Given the description of an element on the screen output the (x, y) to click on. 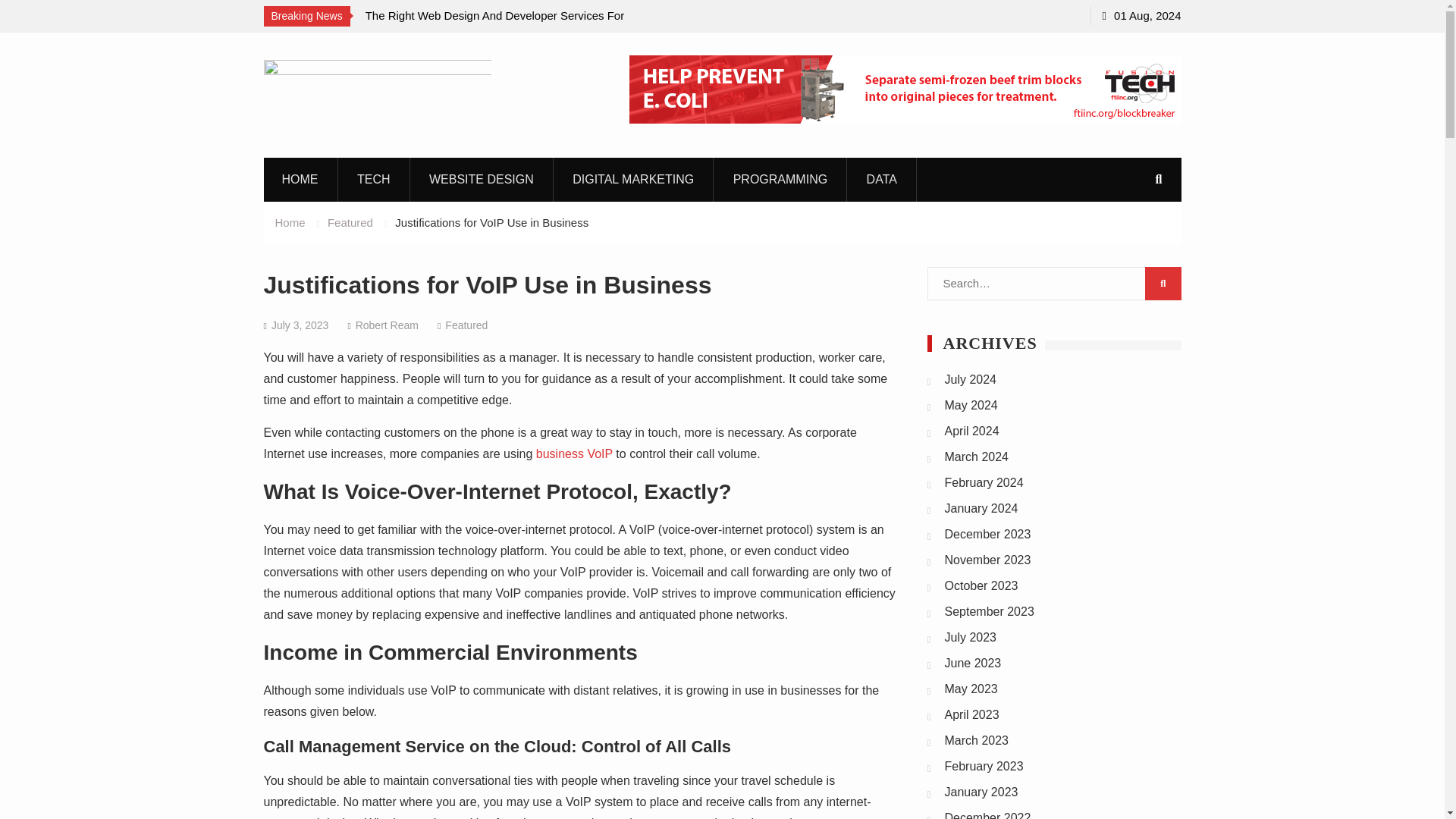
TECH (373, 179)
July 3, 2023 (299, 325)
Search for: (1053, 283)
WEBSITE DESIGN (481, 179)
Featured (349, 221)
HOME (299, 179)
business VoIP (573, 453)
Home (289, 221)
Robert Ream (387, 325)
DATA (882, 179)
